Given the description of an element on the screen output the (x, y) to click on. 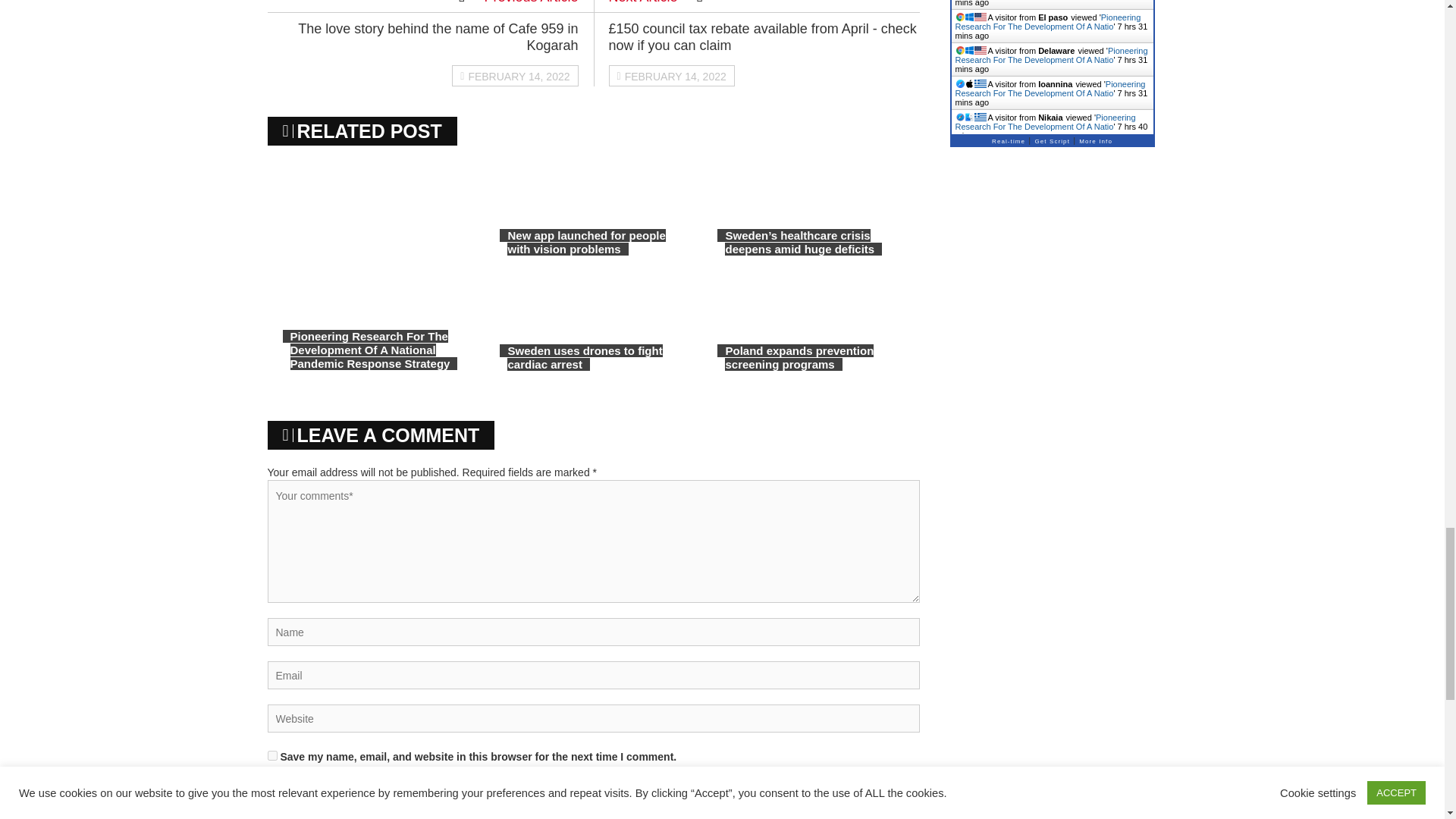
yes (271, 755)
Post Comment (867, 796)
